Given the description of an element on the screen output the (x, y) to click on. 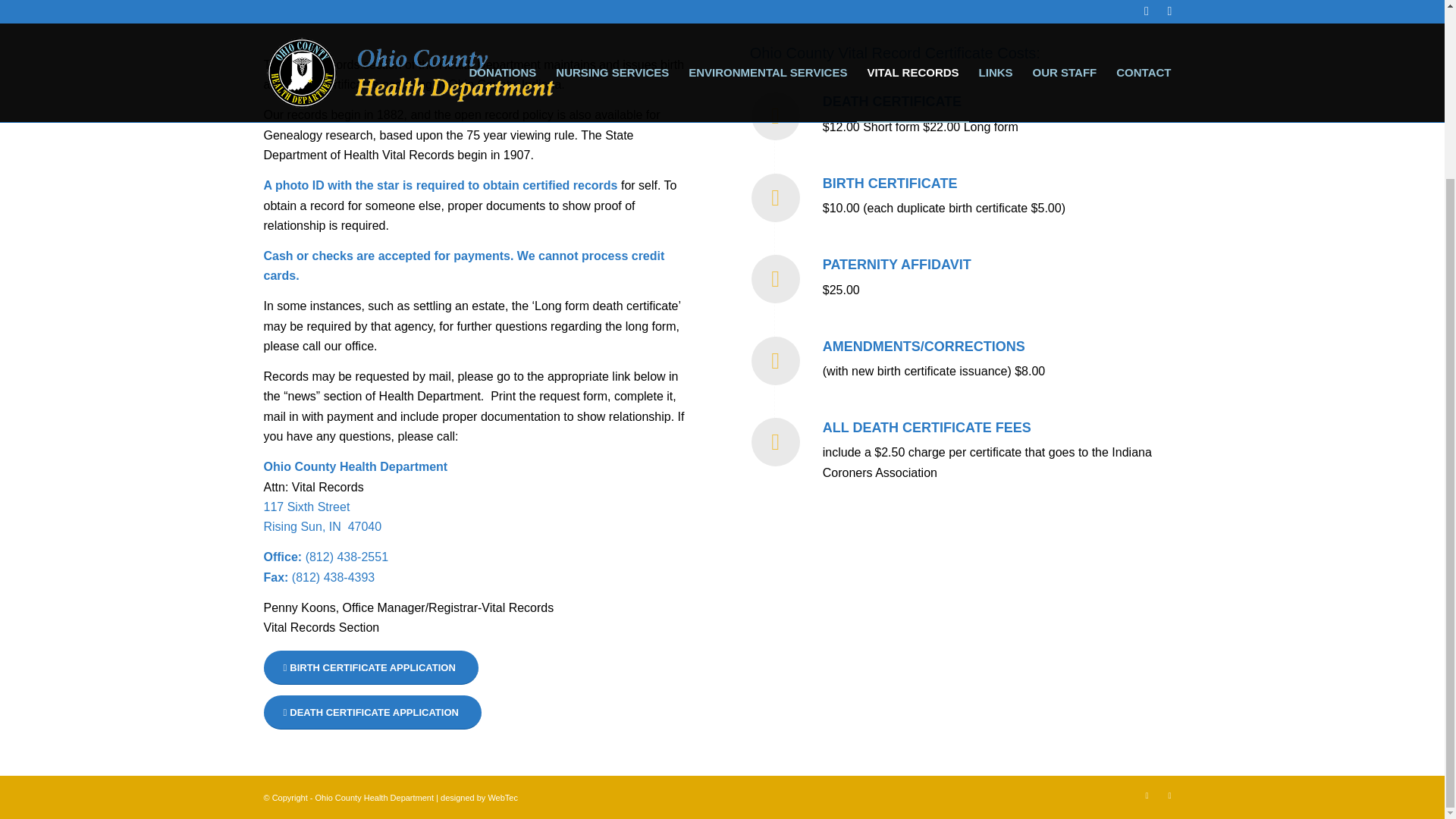
WebTec (502, 797)
Facebook (322, 516)
Twitter (1146, 794)
DEATH CERTIFICATE APPLICATION (1169, 794)
BIRTH CERTIFICATE APPLICATION (372, 712)
